Given the description of an element on the screen output the (x, y) to click on. 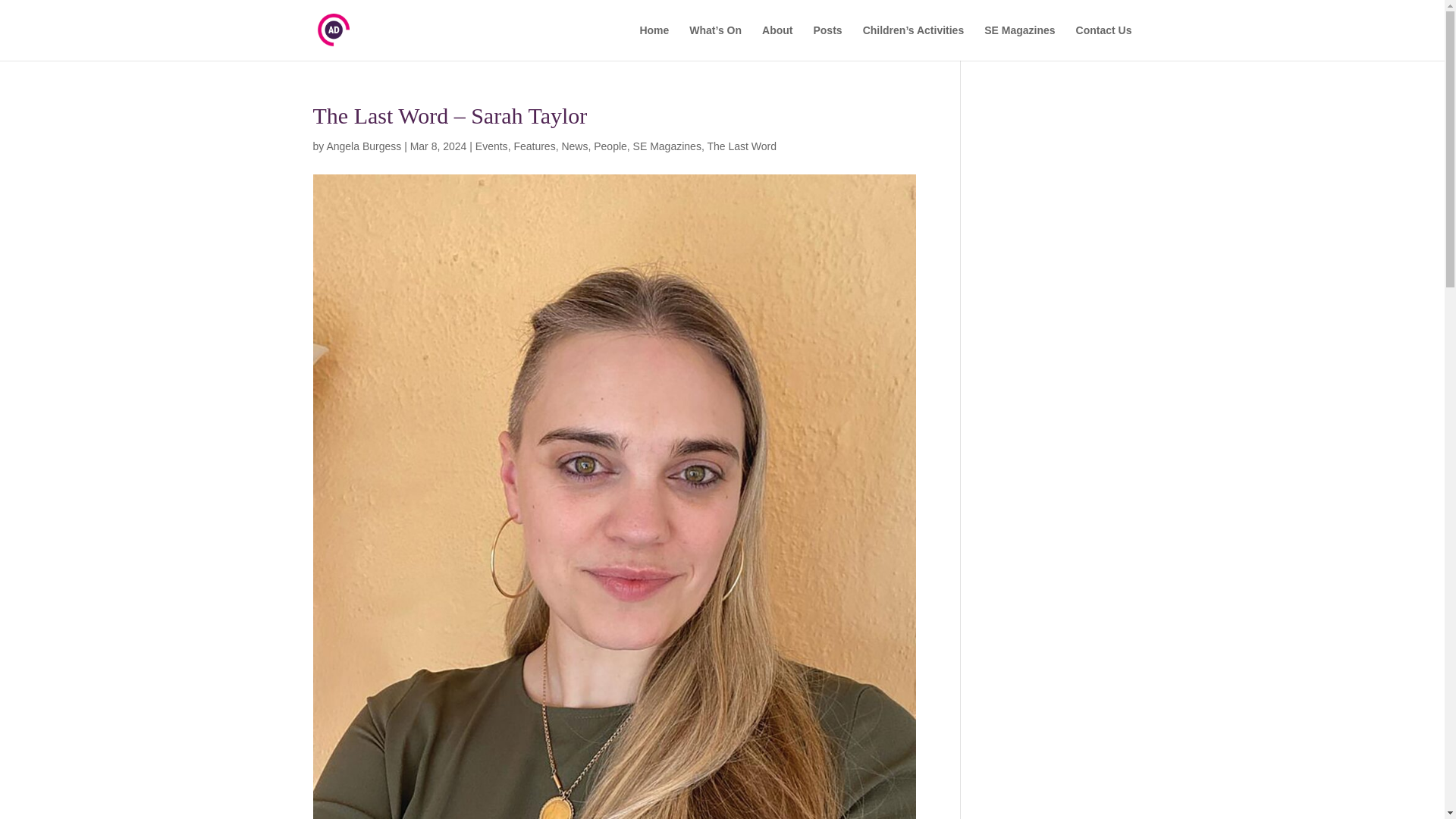
The Last Word (741, 146)
Contact Us (1103, 42)
News (574, 146)
SE Magazines (667, 146)
Events (492, 146)
Posts by Angela Burgess (363, 146)
SE Magazines (1019, 42)
Angela Burgess (363, 146)
People (610, 146)
Features (533, 146)
